Given the description of an element on the screen output the (x, y) to click on. 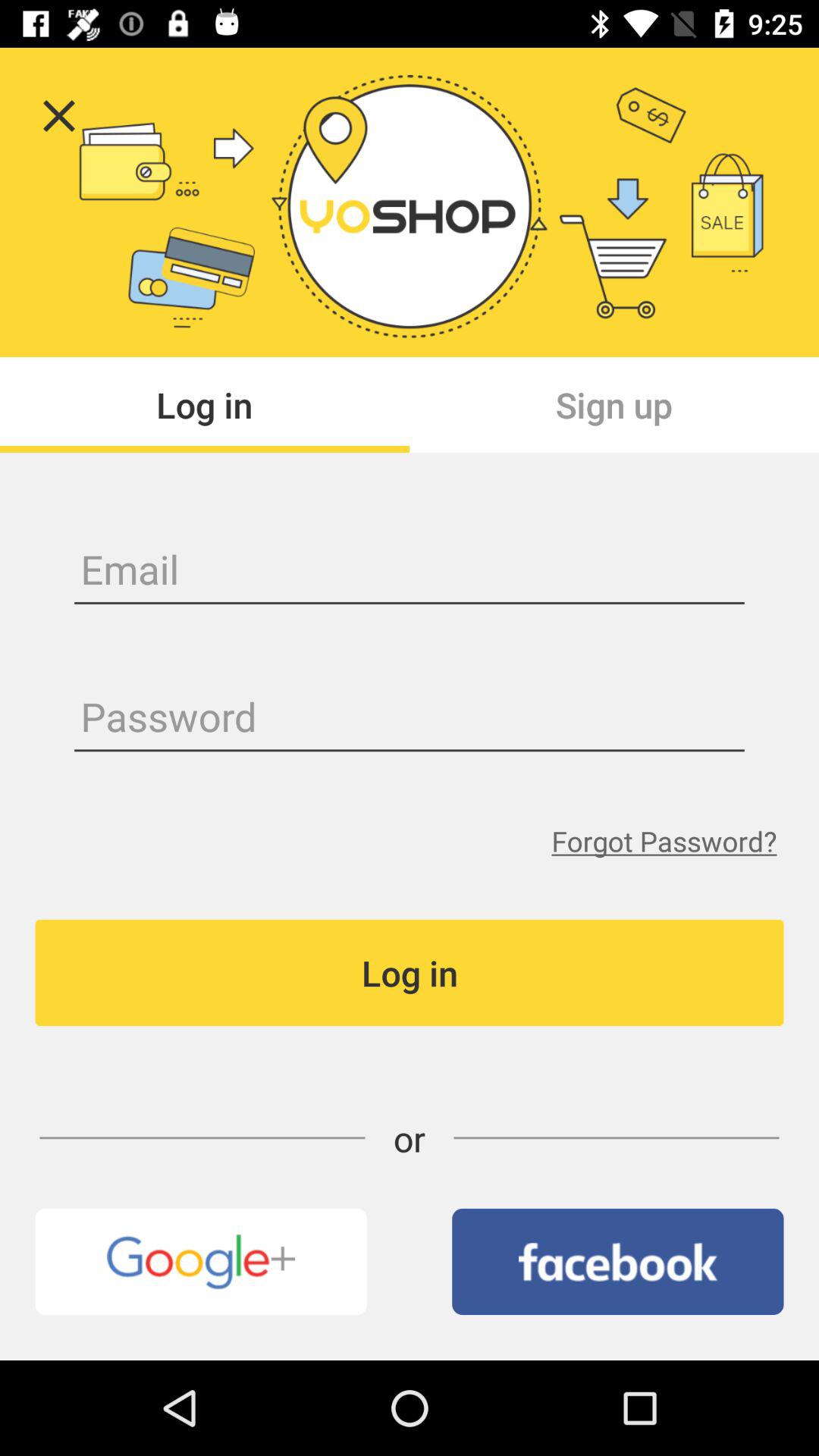
tap the item above the log in (663, 840)
